Given the description of an element on the screen output the (x, y) to click on. 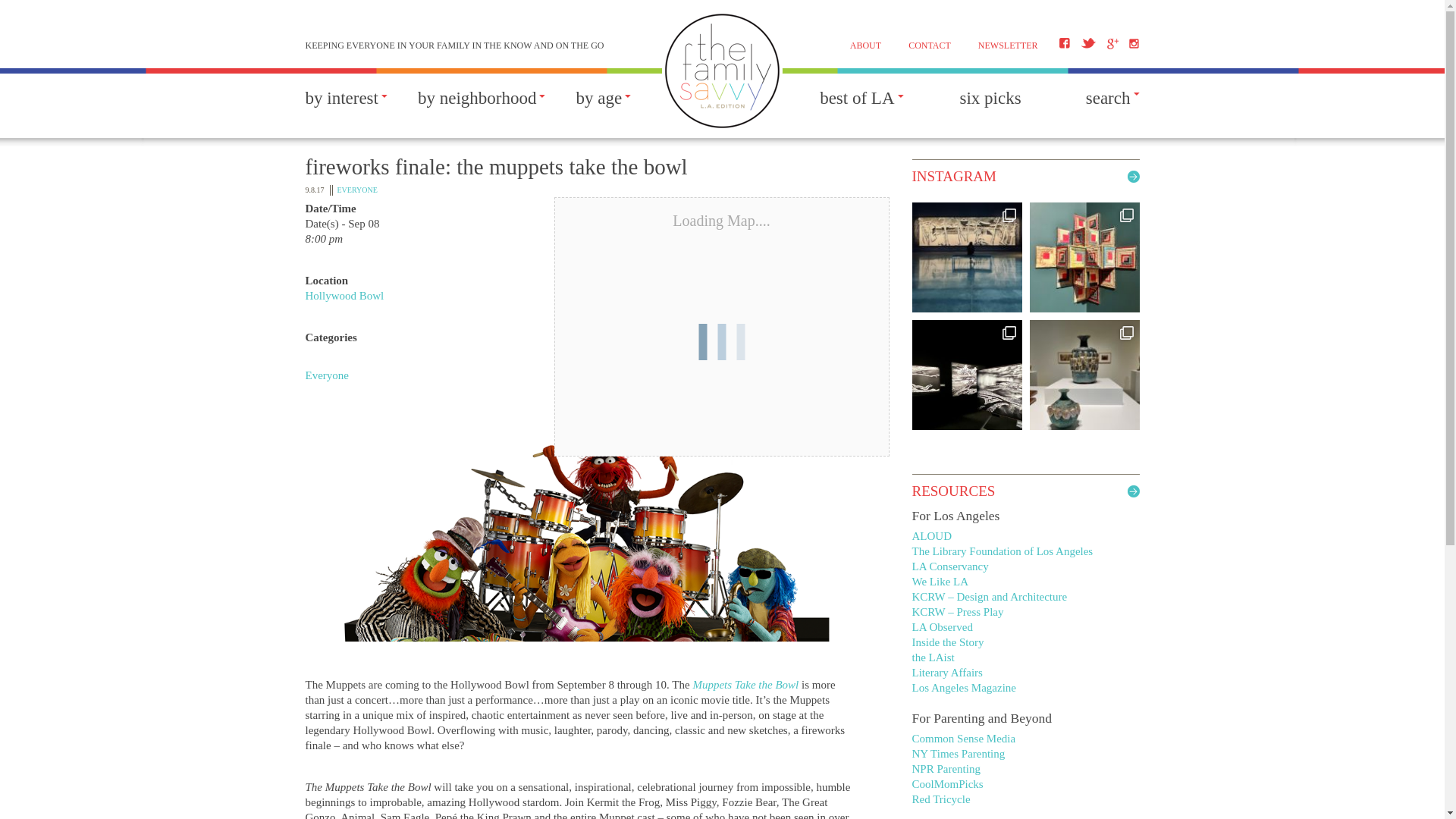
Muppets Take the Bowl (744, 684)
by neighborhood (477, 105)
six picks (990, 105)
Hollywood Bowl (344, 295)
View all posts in Everyone (356, 190)
ABOUT (865, 45)
Everyone (325, 375)
inta (1133, 43)
fb (1064, 43)
search (1113, 97)
by interest (340, 105)
CONTACT (929, 45)
EVERYONE (356, 190)
gplus (1112, 43)
best of LA (856, 105)
